Given the description of an element on the screen output the (x, y) to click on. 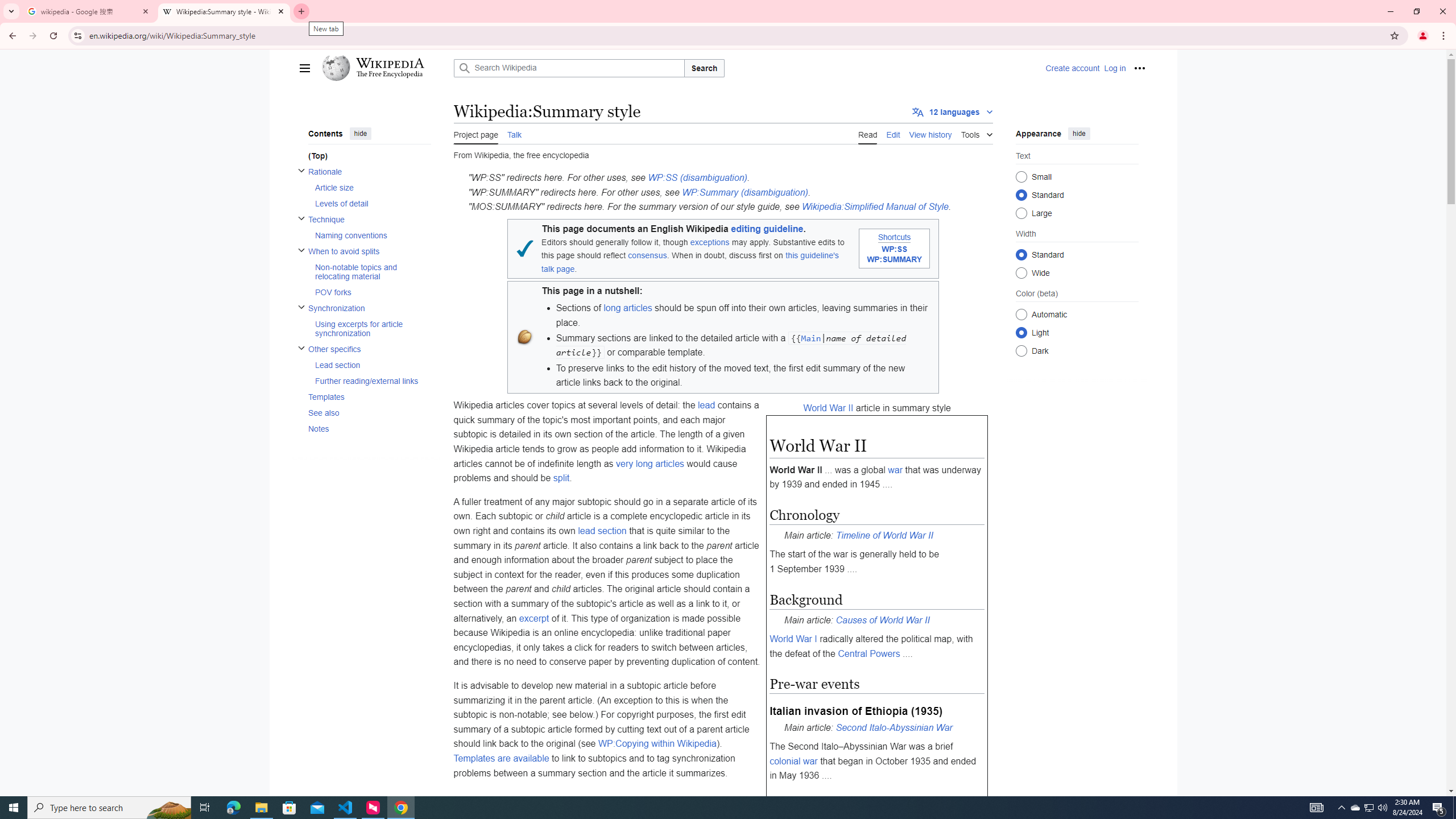
Templates (368, 396)
AutomationID: ca-nstab-project (475, 133)
split (561, 478)
AutomationID: toc-Templates (365, 396)
AutomationID: pt-login-2 (1114, 67)
AutomationID: ca-view (867, 133)
AutomationID: toc-Levels_of_detail (368, 202)
war (895, 469)
The Free Encyclopedia (389, 74)
Large (1020, 212)
Timeline of World War II (884, 534)
